Given the description of an element on the screen output the (x, y) to click on. 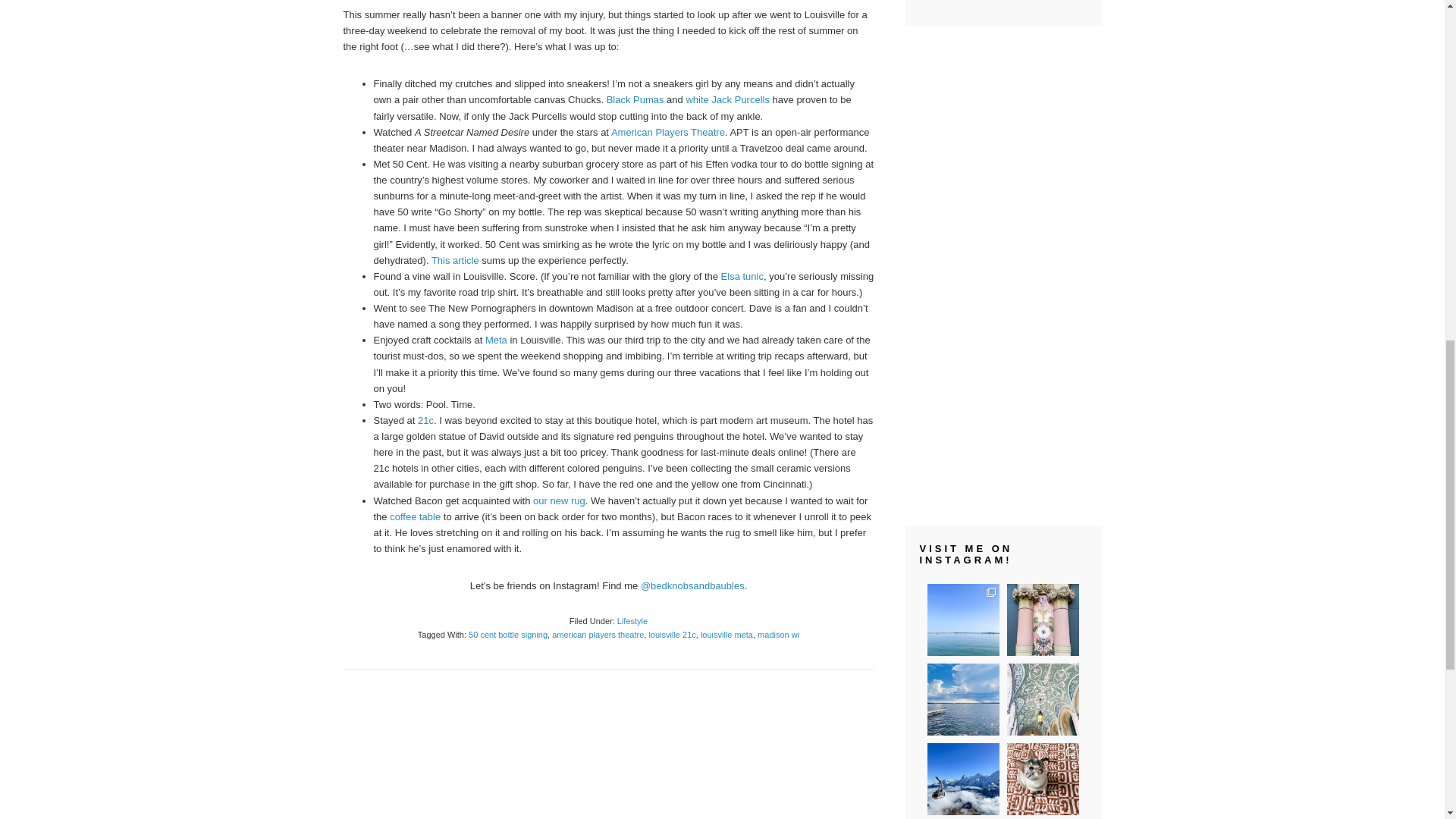
Black Pumas (635, 99)
21c (425, 419)
louisville 21c (671, 634)
white Jack Purcells (727, 99)
Elsa tunic (741, 276)
american players theatre (597, 634)
50 cent bottle signing (507, 634)
Lifestyle (632, 620)
our new rug (558, 500)
coffee table (415, 516)
